Given the description of an element on the screen output the (x, y) to click on. 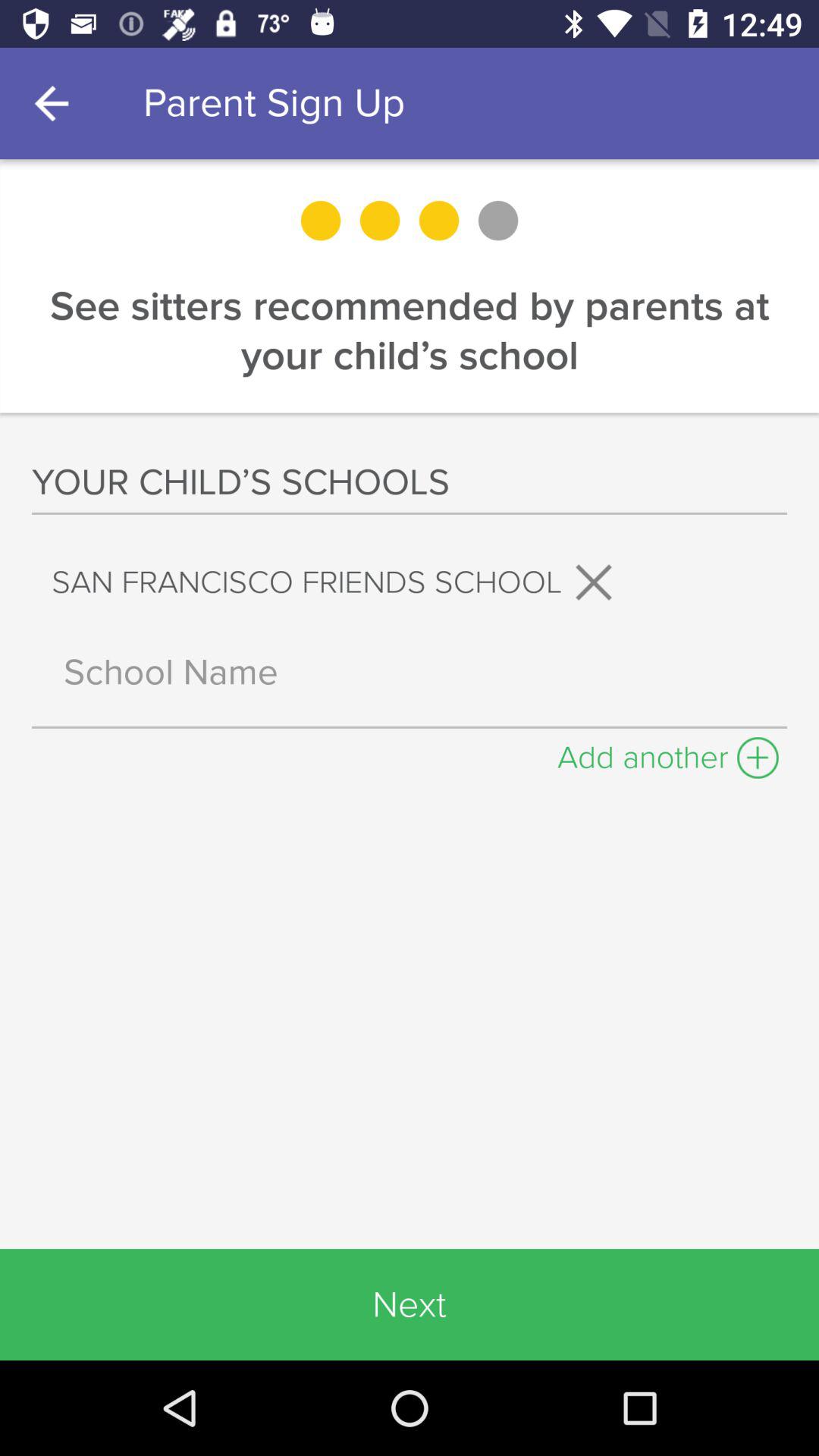
enter school name (409, 672)
